Given the description of an element on the screen output the (x, y) to click on. 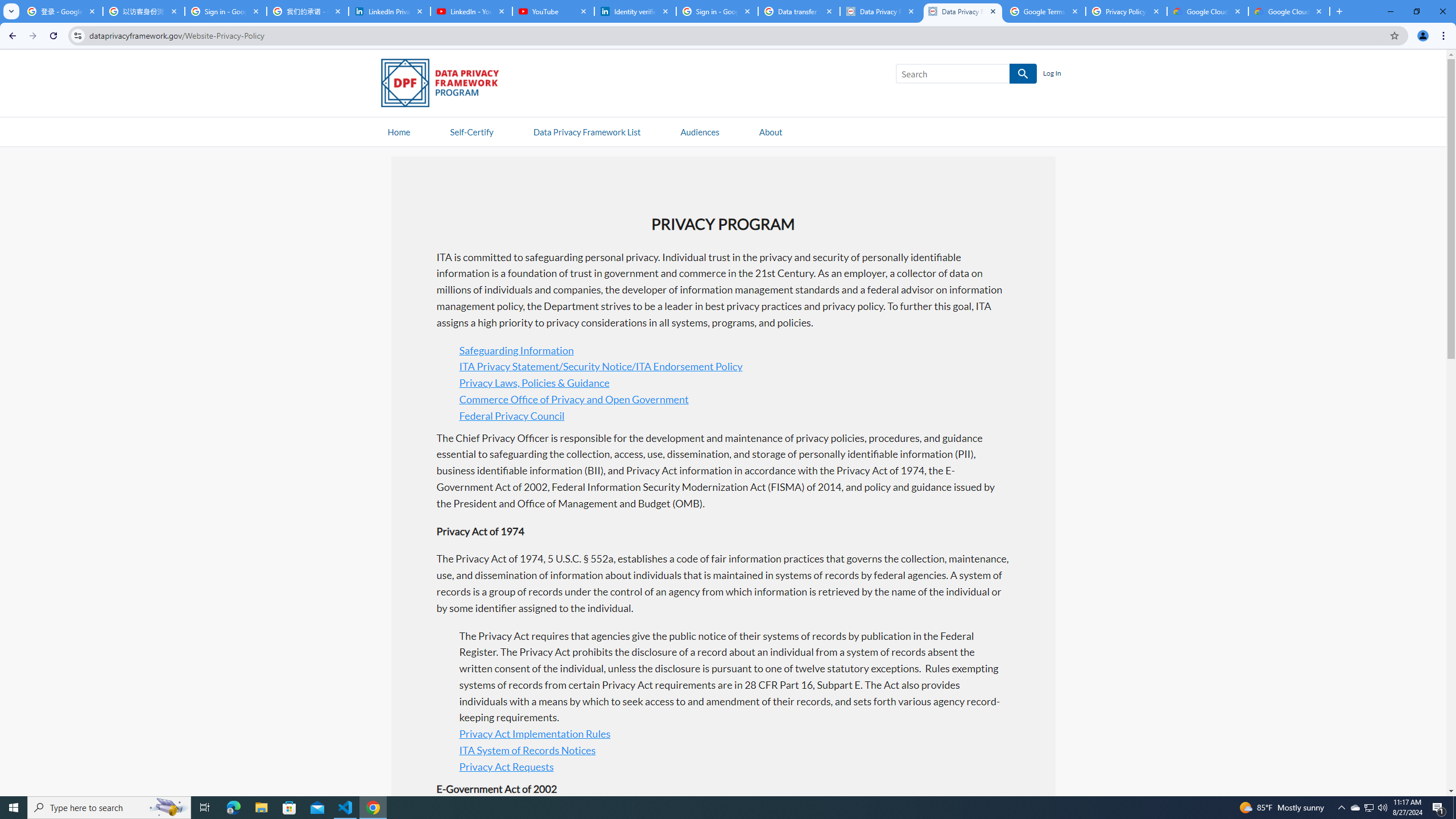
ITA System of Records Notices (526, 749)
Commerce Office of Privacy and Open Government (573, 398)
Google Cloud Privacy Notice (1207, 11)
LinkedIn - YouTube (470, 11)
Log In (1051, 73)
